Given the description of an element on the screen output the (x, y) to click on. 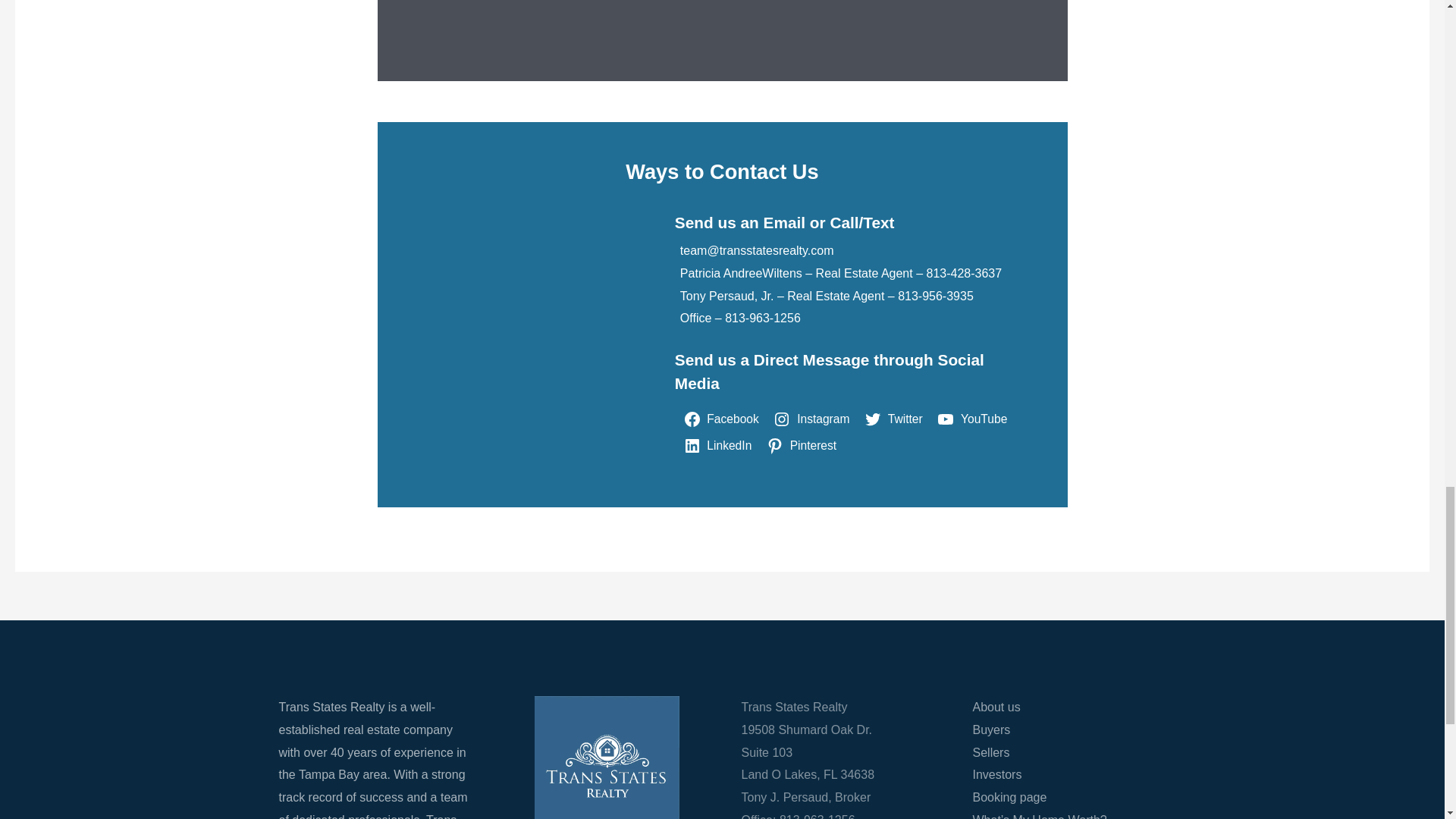
Instagram (814, 419)
Buyers (991, 729)
LinkedIn (720, 445)
Sellers (990, 752)
Booking page (1009, 797)
Twitter (895, 419)
YouTube (974, 419)
About us (996, 707)
Investors (997, 774)
Pinterest (804, 445)
